Given the description of an element on the screen output the (x, y) to click on. 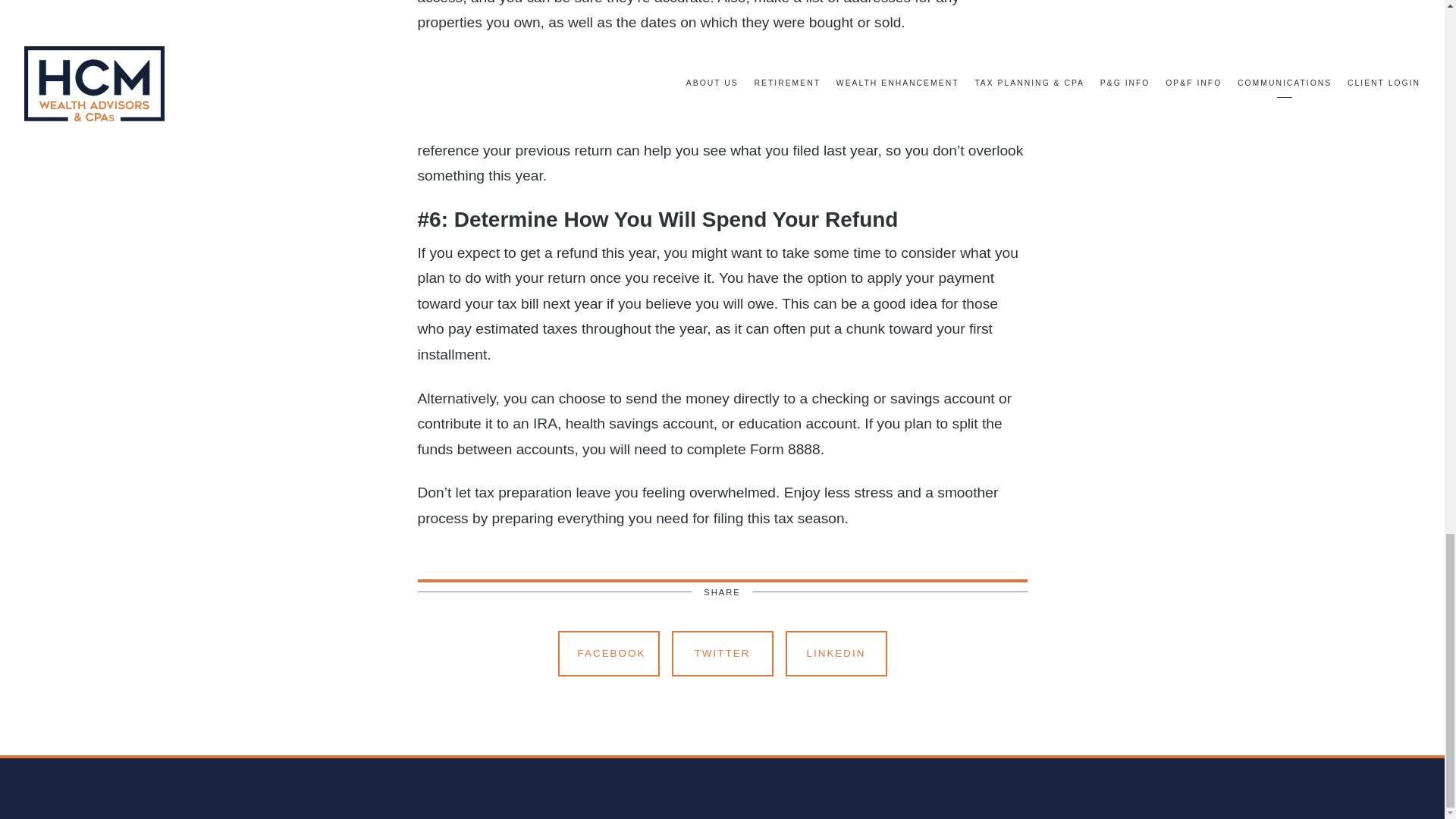
FACEBOOK (608, 653)
LINKEDIN (836, 653)
TWITTER (722, 653)
